Given the description of an element on the screen output the (x, y) to click on. 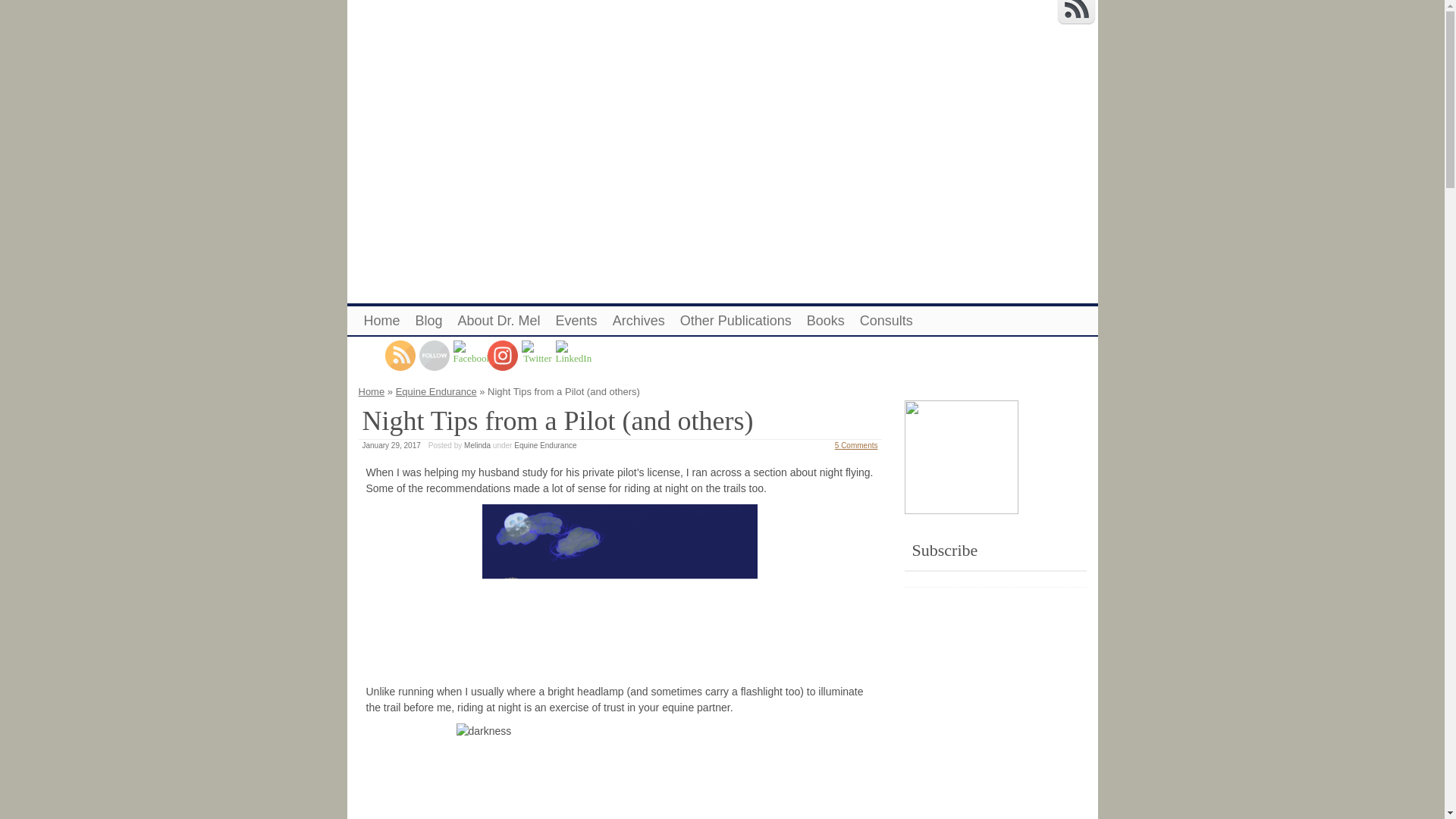
Archives (638, 320)
Home (381, 320)
Other Publications (735, 320)
Equine Endurance (436, 391)
Consults (885, 320)
Equine Endurance (544, 445)
Blog (428, 320)
Books (825, 320)
Melinda (477, 445)
